Given the description of an element on the screen output the (x, y) to click on. 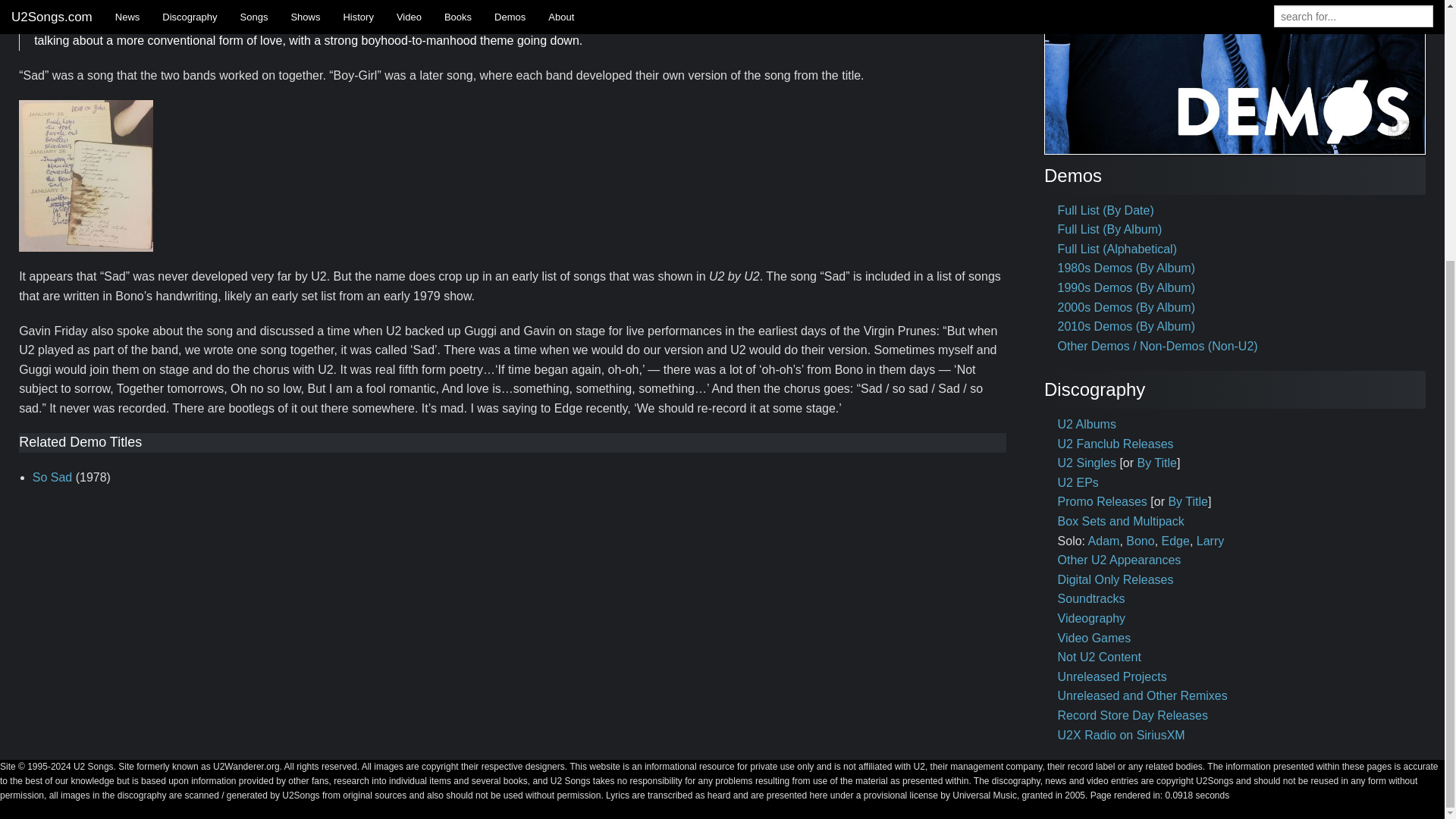
By Title (1156, 462)
Adam (1103, 540)
U2 Fanclub Releases (1115, 443)
U2 Singles (1087, 462)
Bono (1139, 540)
Not U2 Content (1099, 656)
So Sad (51, 477)
Edge (1175, 540)
Video Games (1094, 637)
Box Sets and Multipack (1121, 521)
